Given the description of an element on the screen output the (x, y) to click on. 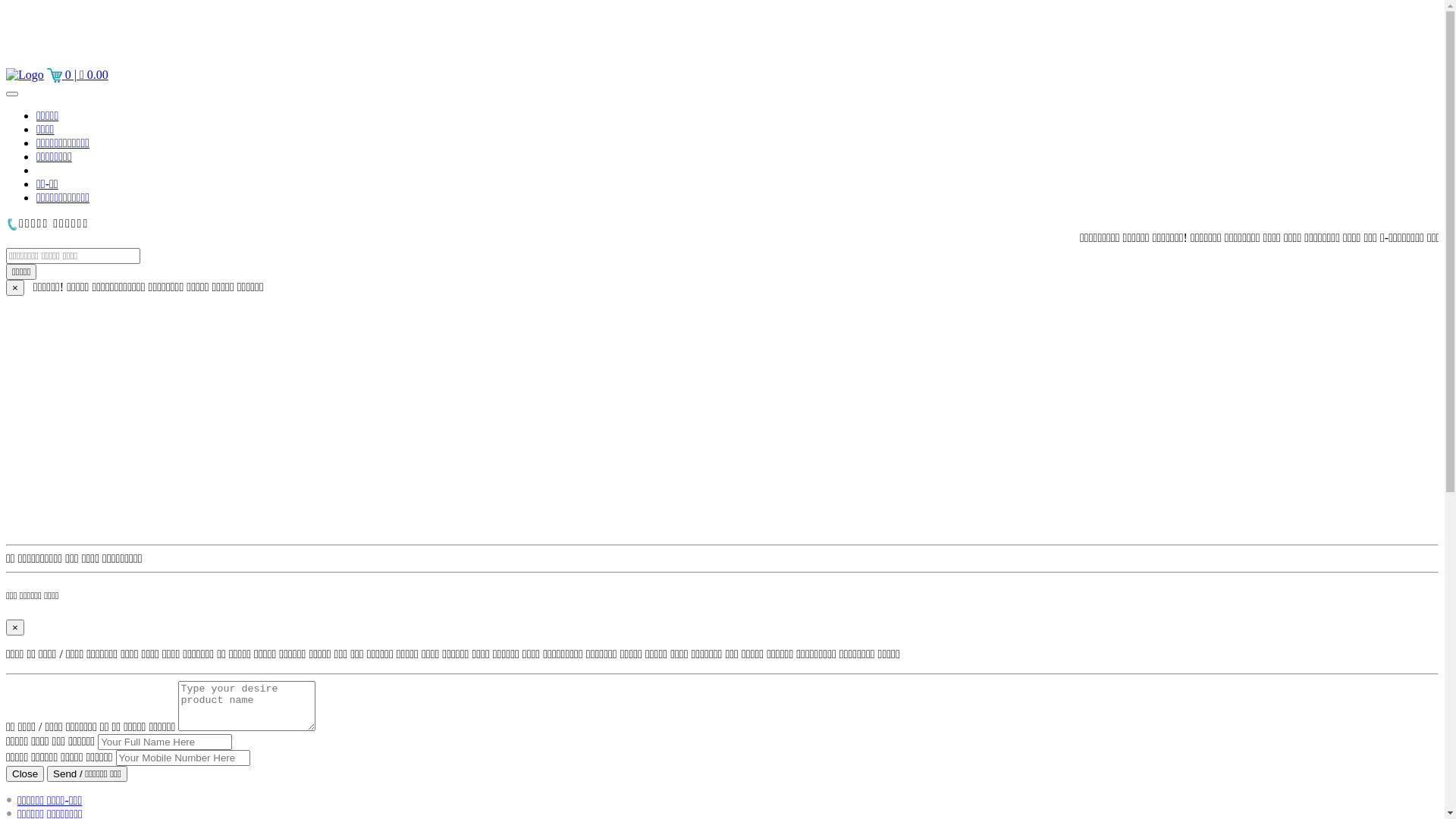
Bigstore.com.bd Element type: hover (24, 74)
Hotline Number Element type: hover (12, 224)
Close Element type: text (24, 773)
